Given the description of an element on the screen output the (x, y) to click on. 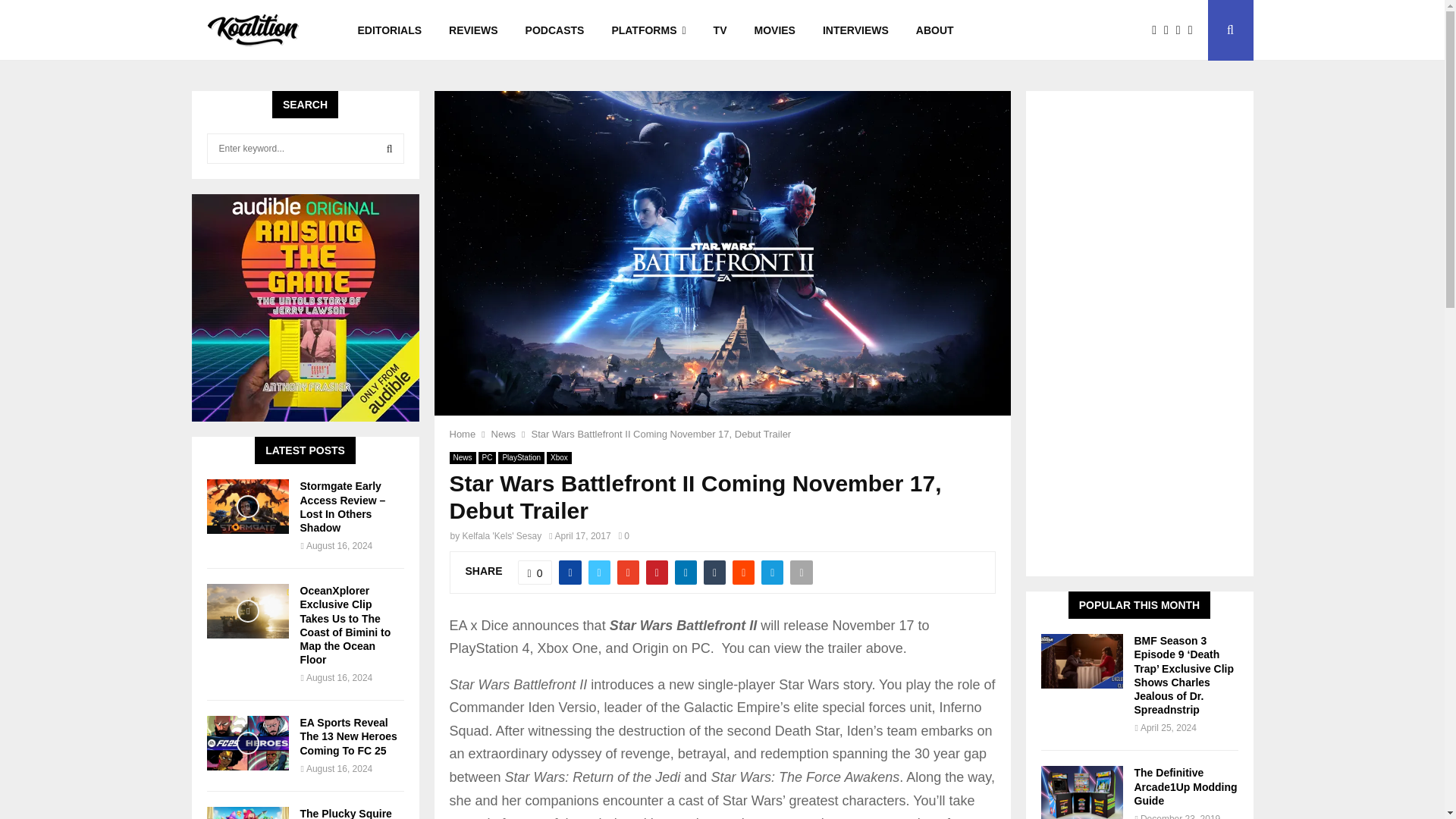
REVIEWS (473, 30)
PLATFORMS (647, 30)
MOVIES (773, 30)
ABOUT (935, 30)
Like (535, 571)
INTERVIEWS (855, 30)
PODCASTS (555, 30)
EDITORIALS (389, 30)
